Given the description of an element on the screen output the (x, y) to click on. 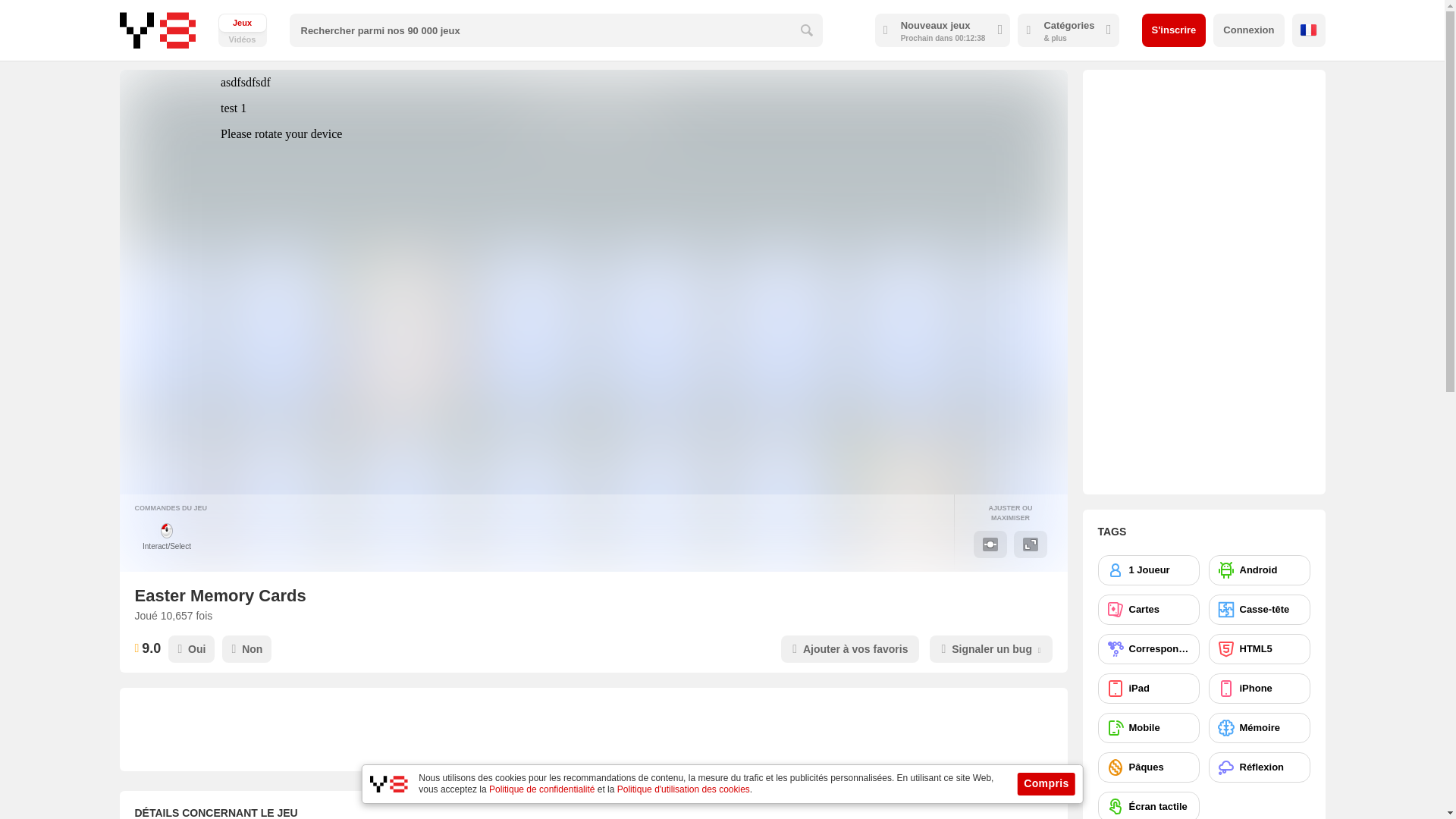
Correspondance (1148, 648)
Android (1259, 570)
iPad (1148, 688)
Cartes (1148, 609)
HTML5 (1259, 648)
1 Joueur (1148, 570)
iPhone (1259, 688)
Politique d'utilisation des cookies (683, 789)
Mobile (1148, 727)
S'inscrire (1174, 29)
